Given the description of an element on the screen output the (x, y) to click on. 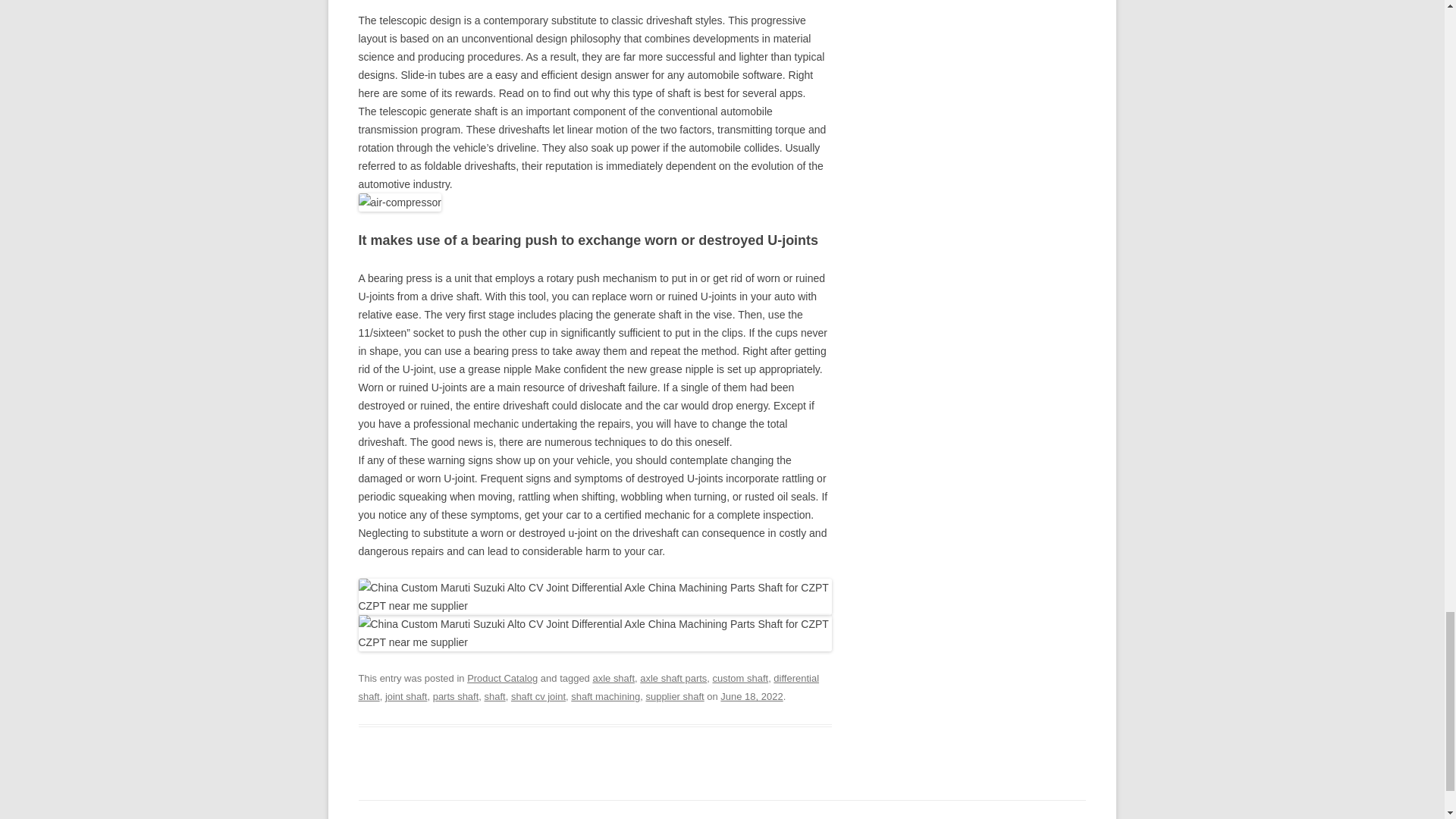
supplier shaft (674, 696)
parts shaft (455, 696)
7:31 am (751, 696)
custom shaft (740, 677)
Product Catalog (502, 677)
June 18, 2022 (751, 696)
shaft (494, 696)
shaft cv joint (538, 696)
axle shaft (613, 677)
shaft machining (605, 696)
axle shaft parts (673, 677)
joint shaft (406, 696)
differential shaft (588, 686)
